Given the description of an element on the screen output the (x, y) to click on. 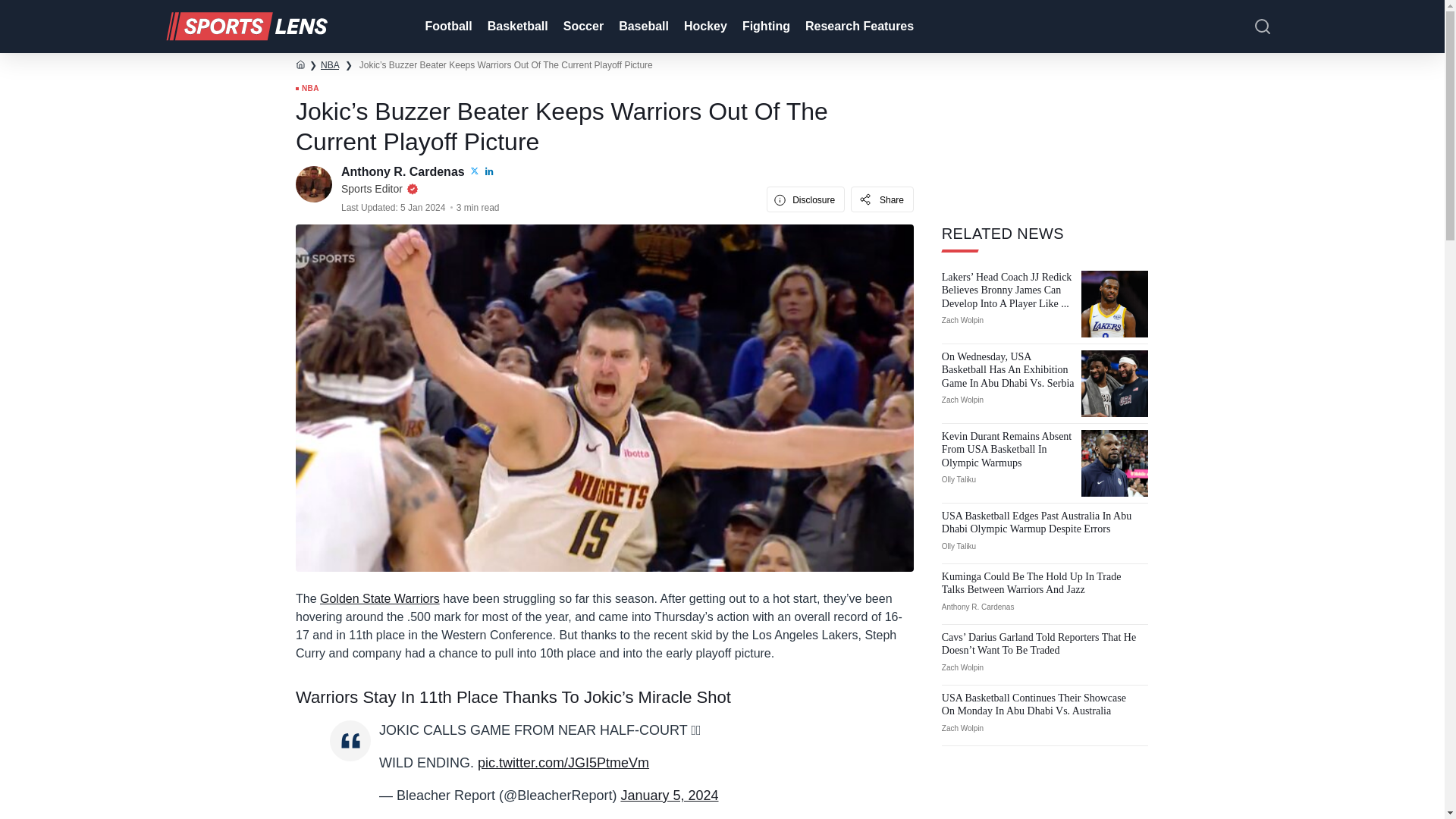
Basketball (516, 26)
Baseball (642, 26)
Research Features (858, 26)
Hockey (704, 26)
Football (445, 26)
Fighting (764, 26)
January 5, 2024 (668, 795)
Anthony R. Cardenas (403, 171)
Soccer (582, 26)
NBA (329, 64)
Golden State Warriors (379, 598)
NBA (306, 88)
Share (882, 199)
